Given the description of an element on the screen output the (x, y) to click on. 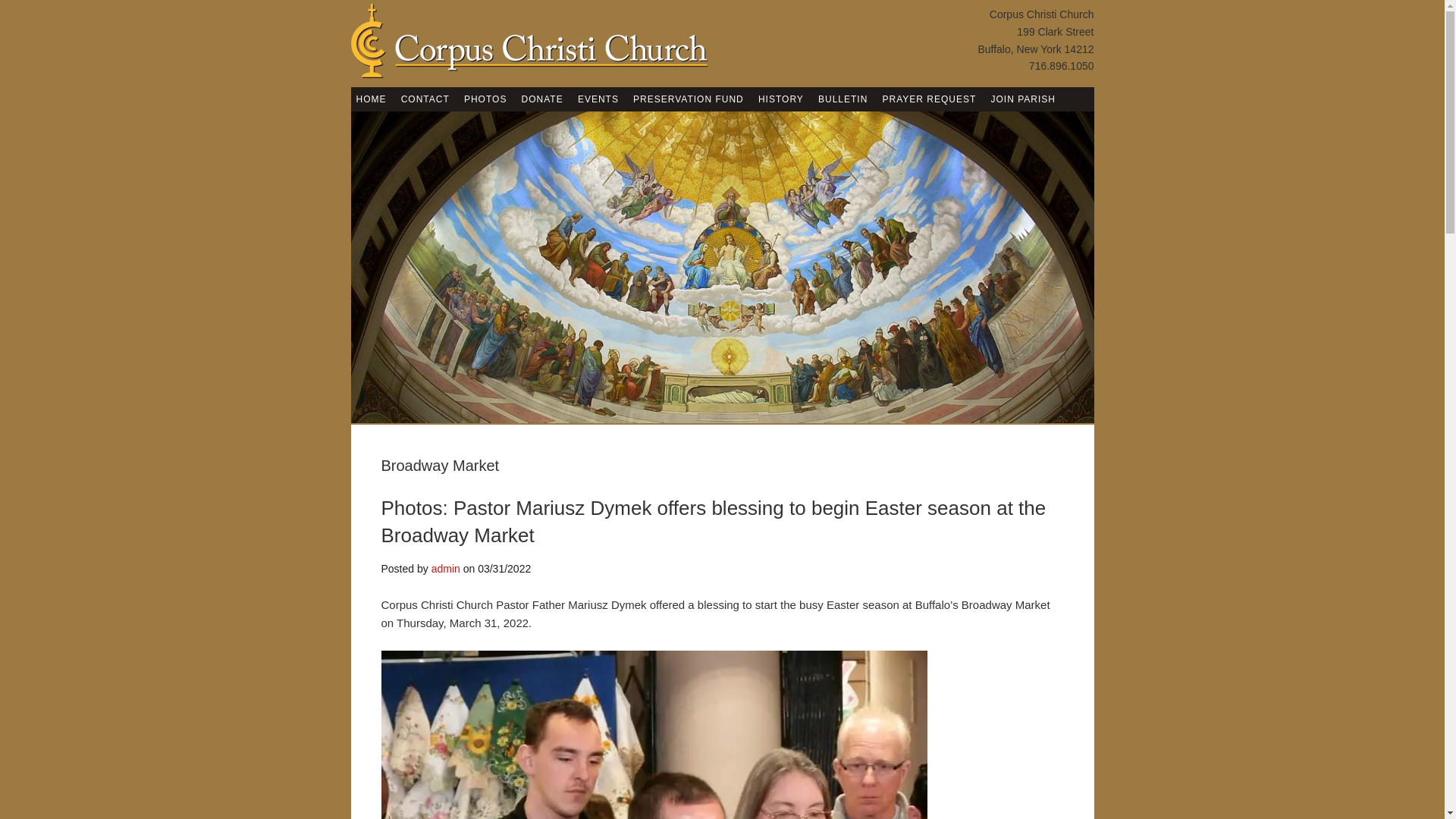
HOME (370, 98)
Thursday, March 31, 2022, 8:54 pm (504, 568)
PRAYER REQUEST (929, 98)
CONTACT (425, 98)
BULLETIN (842, 98)
PRESERVATION FUND (688, 98)
PHOTOS (485, 98)
HISTORY (780, 98)
DONATE (542, 98)
